Given the description of an element on the screen output the (x, y) to click on. 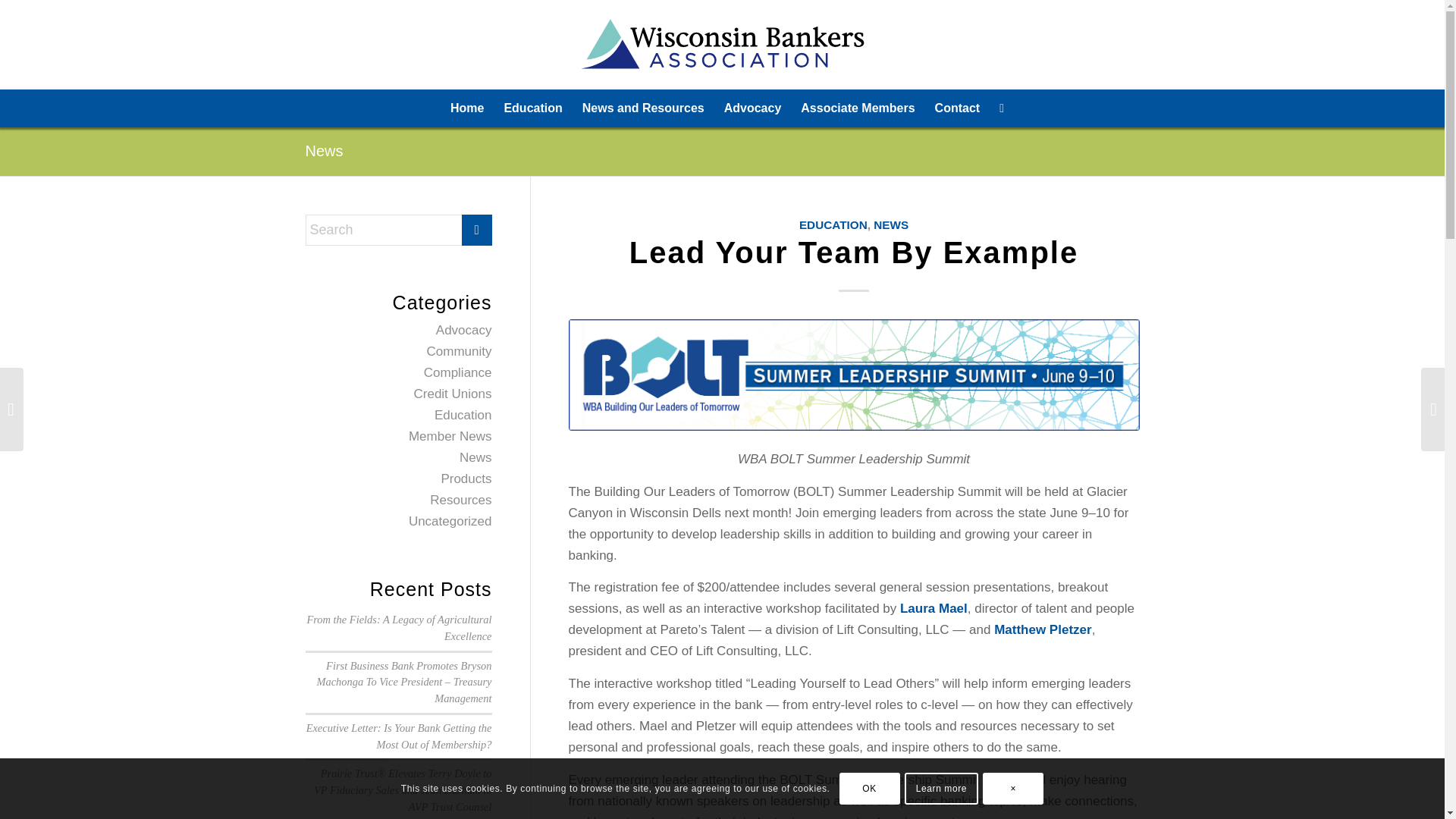
NEWS (890, 224)
Wisconsin Banking Industry Vendors (857, 108)
Home (467, 108)
Advocacy (463, 329)
Compliance (457, 372)
Advocacy (753, 108)
Uncategorized (450, 521)
News and Resources (643, 108)
News (476, 457)
Resources (460, 499)
Education (462, 414)
Products (466, 478)
Banking Industry Education (532, 108)
Education (532, 108)
Community (459, 350)
